Given the description of an element on the screen output the (x, y) to click on. 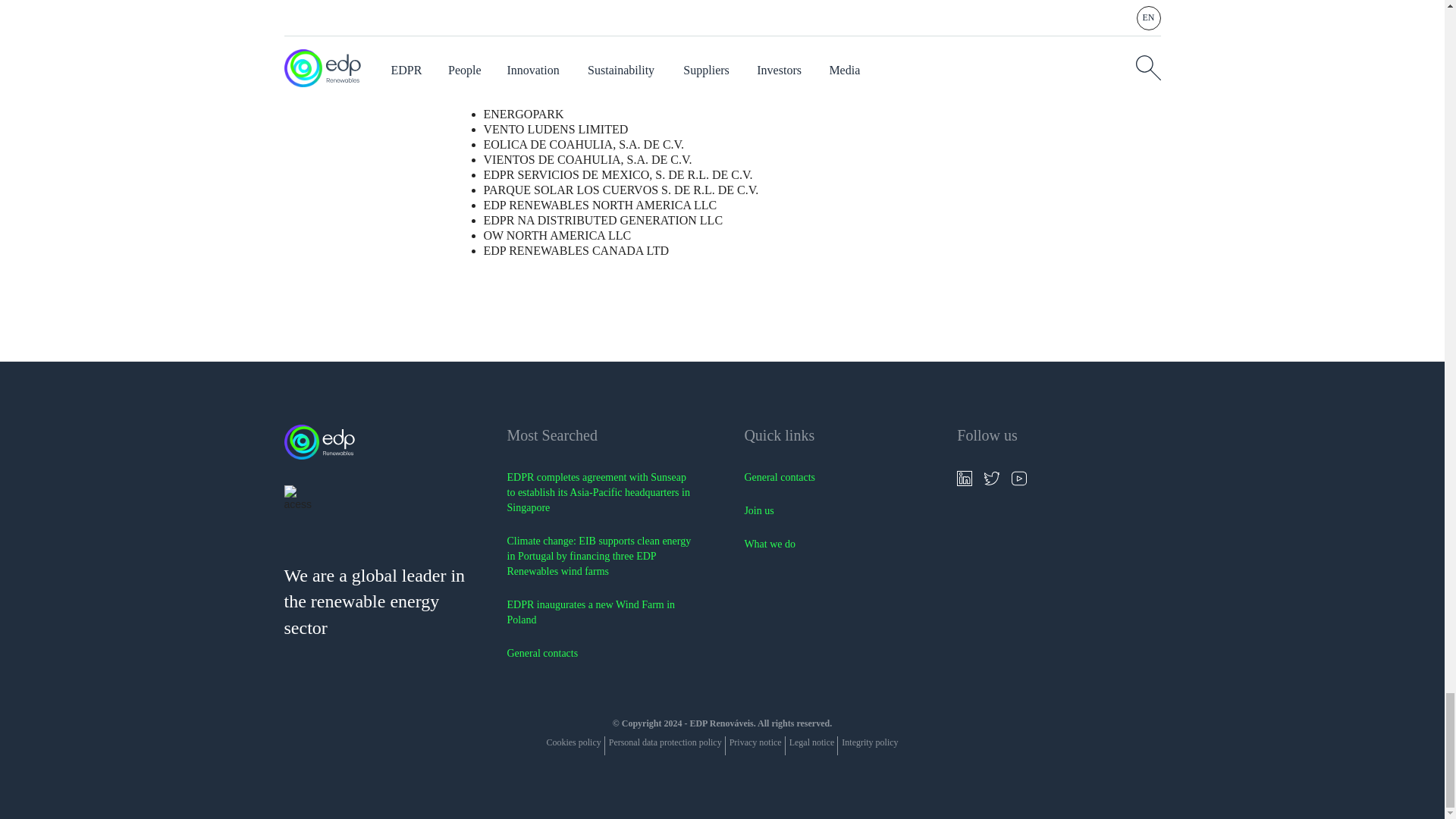
EDPR Logo (382, 445)
Access (306, 498)
acess (297, 498)
EDP Renewables (321, 443)
